Given the description of an element on the screen output the (x, y) to click on. 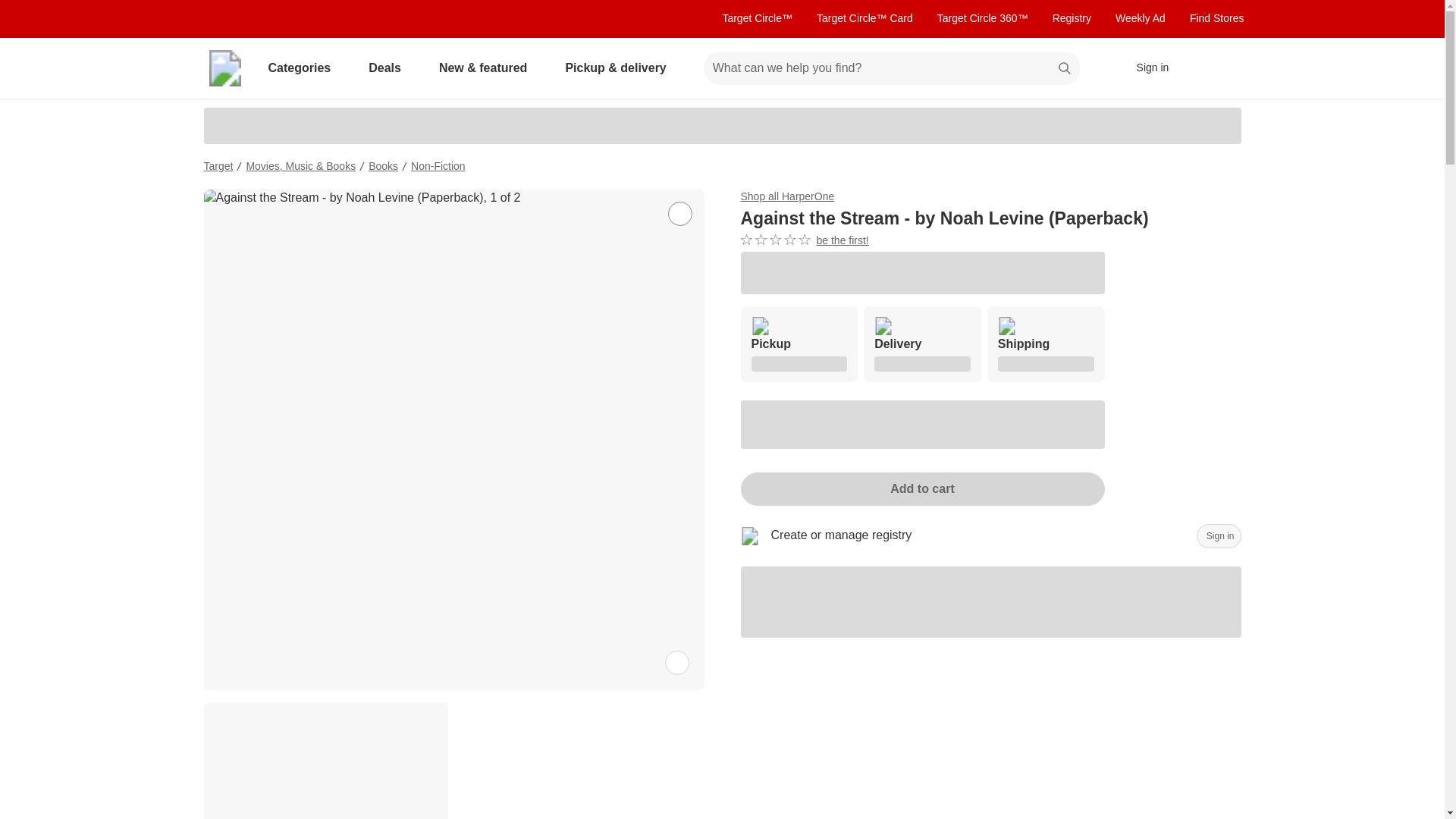
Deals (387, 68)
Shop all HarperOne (786, 196)
Sign in (1144, 68)
Delivery (922, 344)
Pickup (798, 344)
Categories (301, 68)
Weekly Ad (1140, 18)
Find Stores (1216, 18)
Books (382, 165)
